Given the description of an element on the screen output the (x, y) to click on. 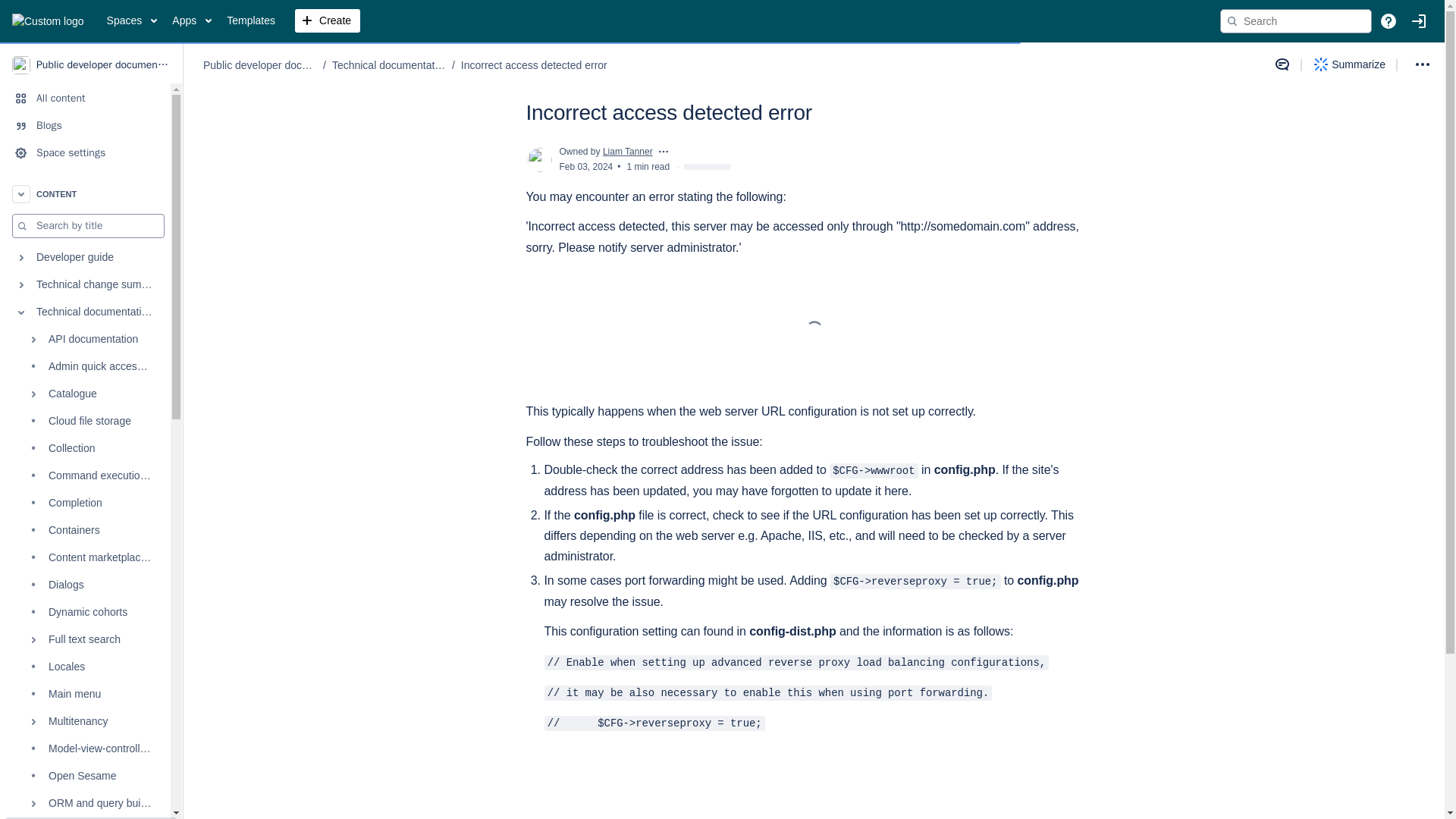
Catalogue (84, 393)
Create (327, 21)
Technical change summaries (84, 284)
Space settings (84, 153)
ORM and query builder (84, 803)
Spaces (131, 21)
Templates (250, 21)
CONTENT (84, 194)
Developer guide (84, 257)
Multitenancy (84, 721)
